Given the description of an element on the screen output the (x, y) to click on. 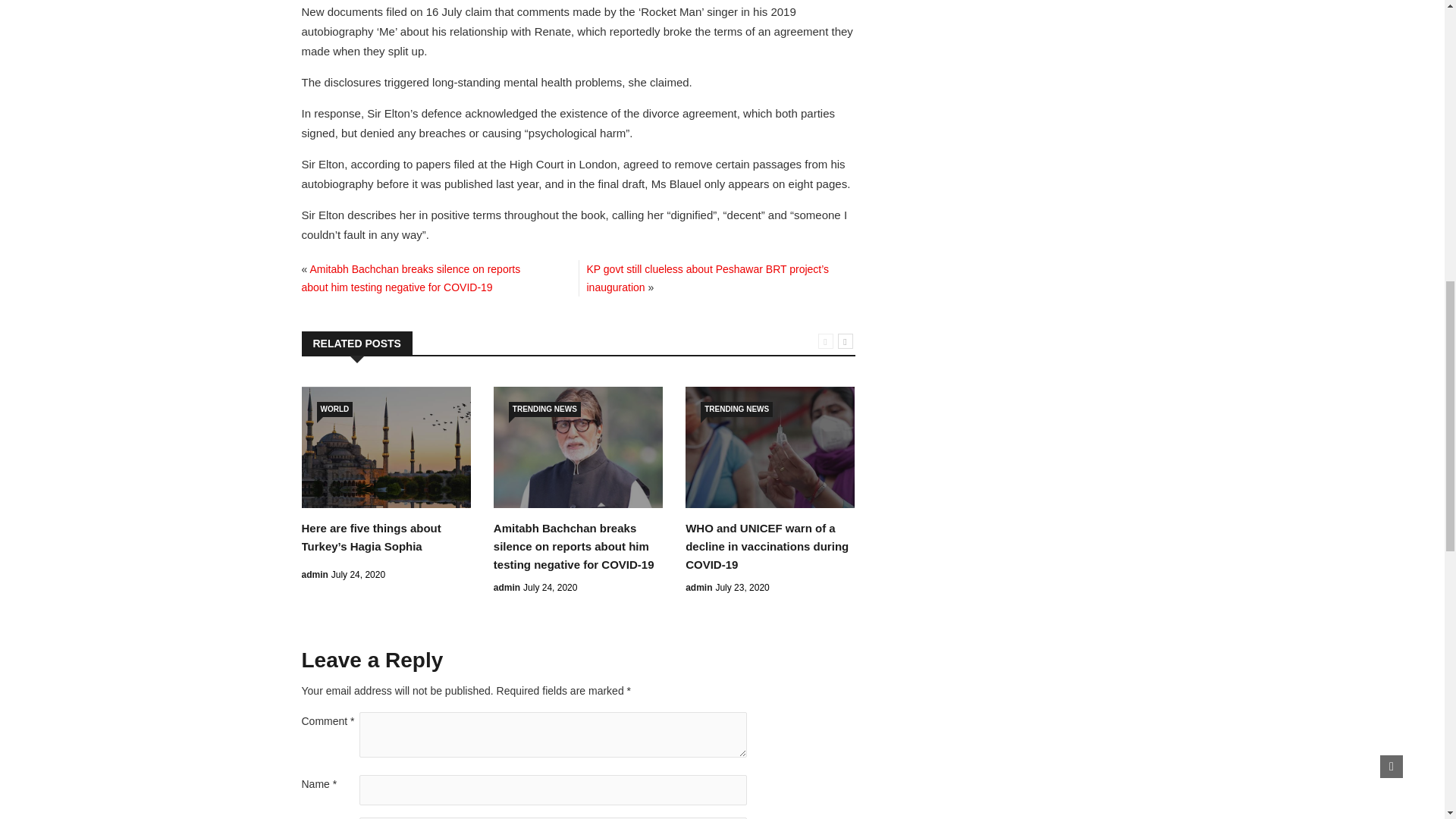
admin (698, 587)
WORLD (335, 409)
TRENDING NEWS (736, 409)
admin (315, 574)
TRENDING NEWS (544, 409)
admin (506, 587)
